Given the description of an element on the screen output the (x, y) to click on. 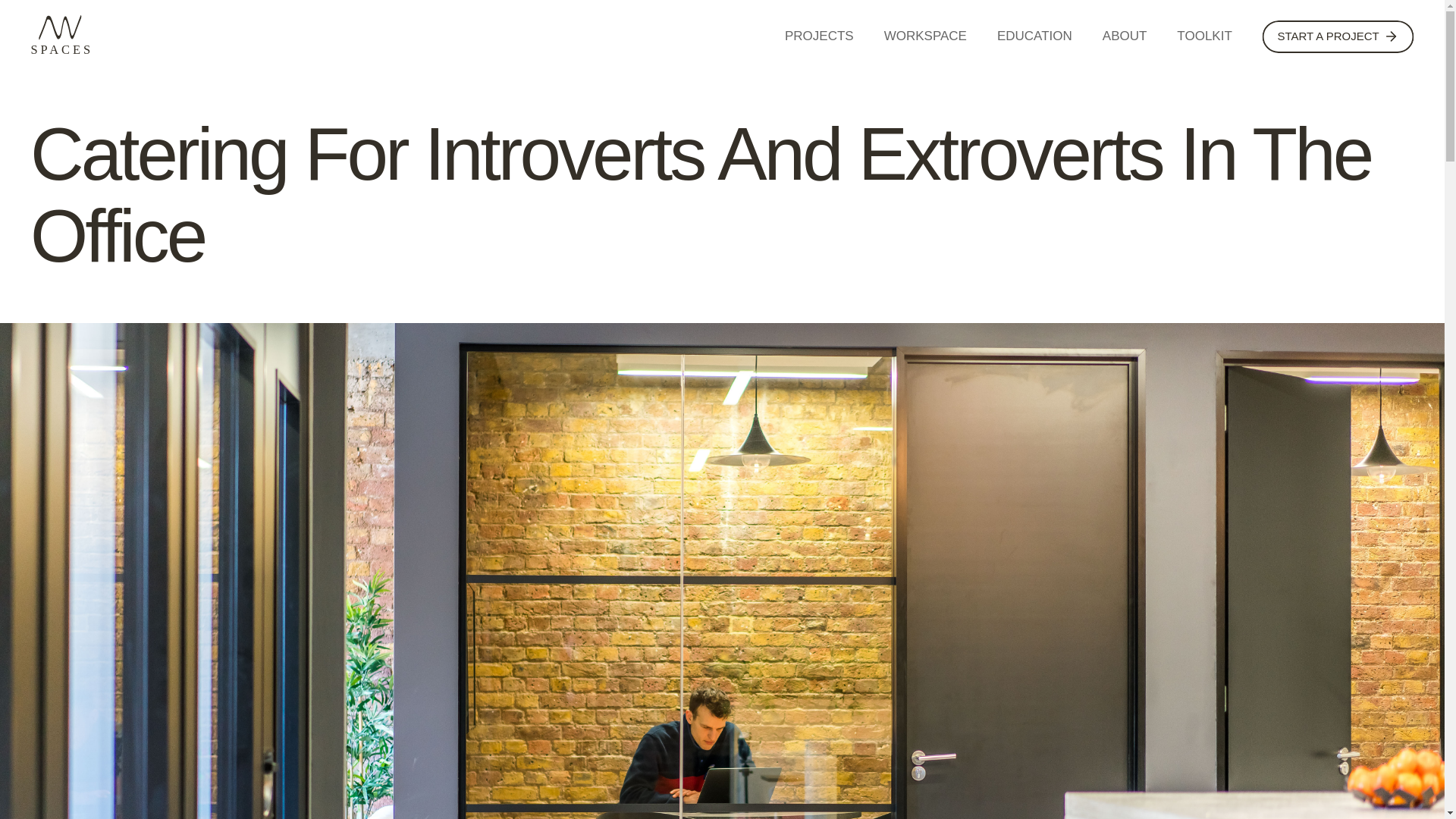
EDUCATION (1034, 35)
START A PROJECT (1337, 36)
TOOLKIT (1203, 35)
ABOUT (1124, 35)
PROJECTS (818, 35)
WORKSPACE (924, 35)
